Given the description of an element on the screen output the (x, y) to click on. 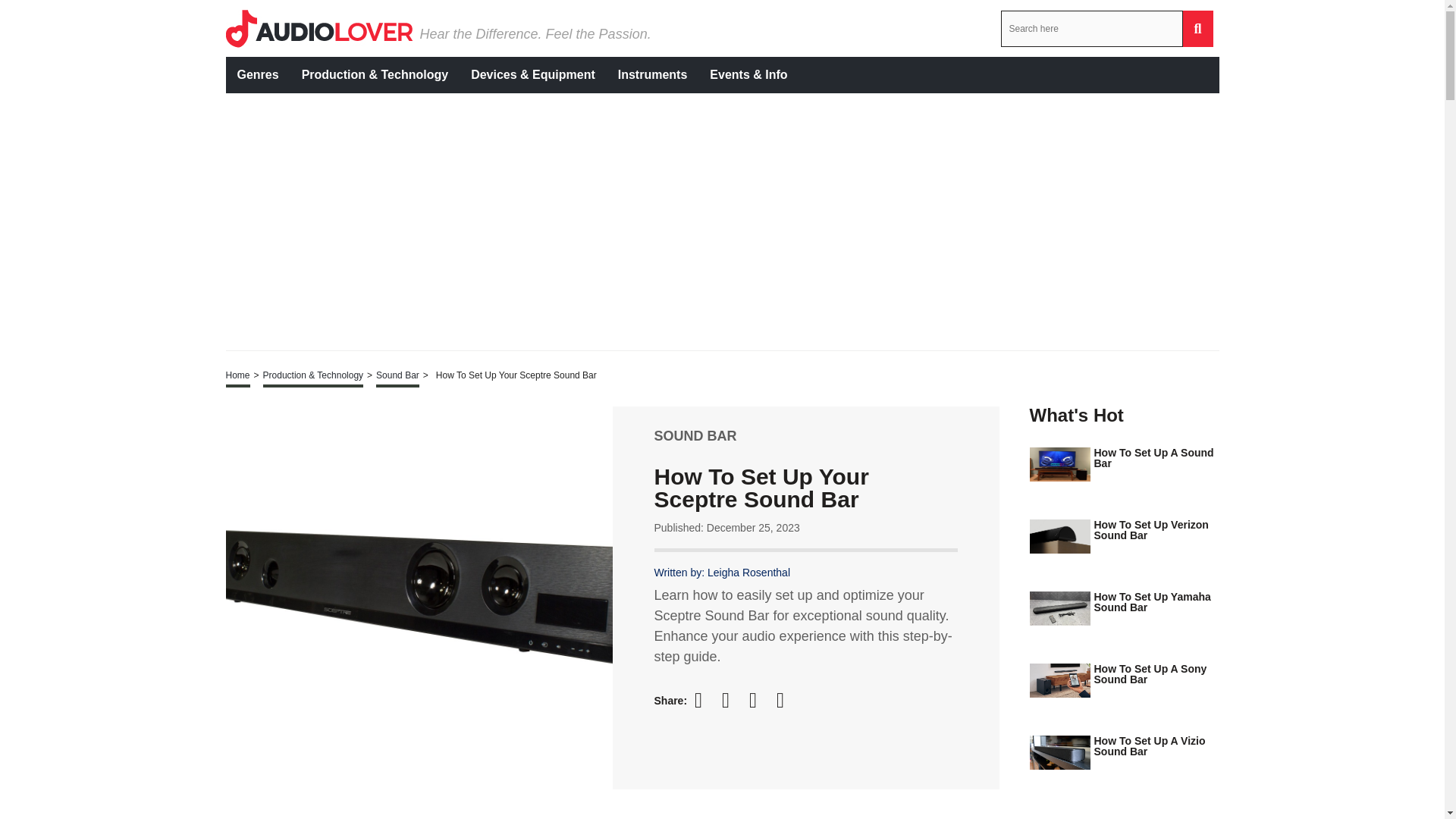
Share on WhatsApp (786, 699)
Genres (257, 74)
Advertisement (707, 220)
Advertisement (1124, 816)
Share on Pinterest (759, 699)
Share on Facebook (705, 699)
Share on Twitter (732, 700)
